Given the description of an element on the screen output the (x, y) to click on. 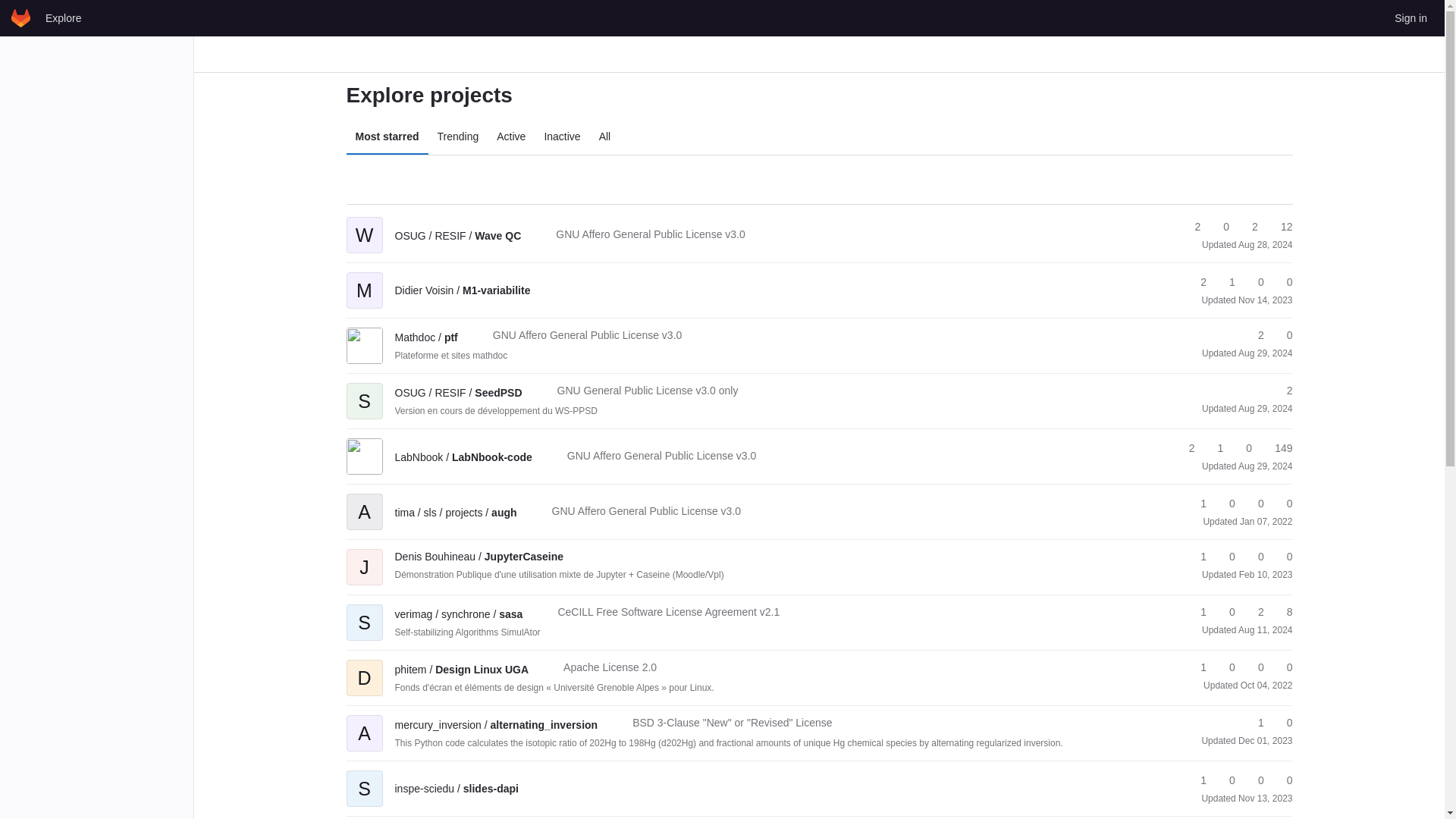
Stars (1196, 282)
2 (1184, 448)
Stars (1190, 227)
Trending (457, 135)
149 (1276, 448)
S (363, 390)
2 (1190, 227)
2 (1248, 227)
2 (1282, 390)
2 (1196, 282)
